Given the description of an element on the screen output the (x, y) to click on. 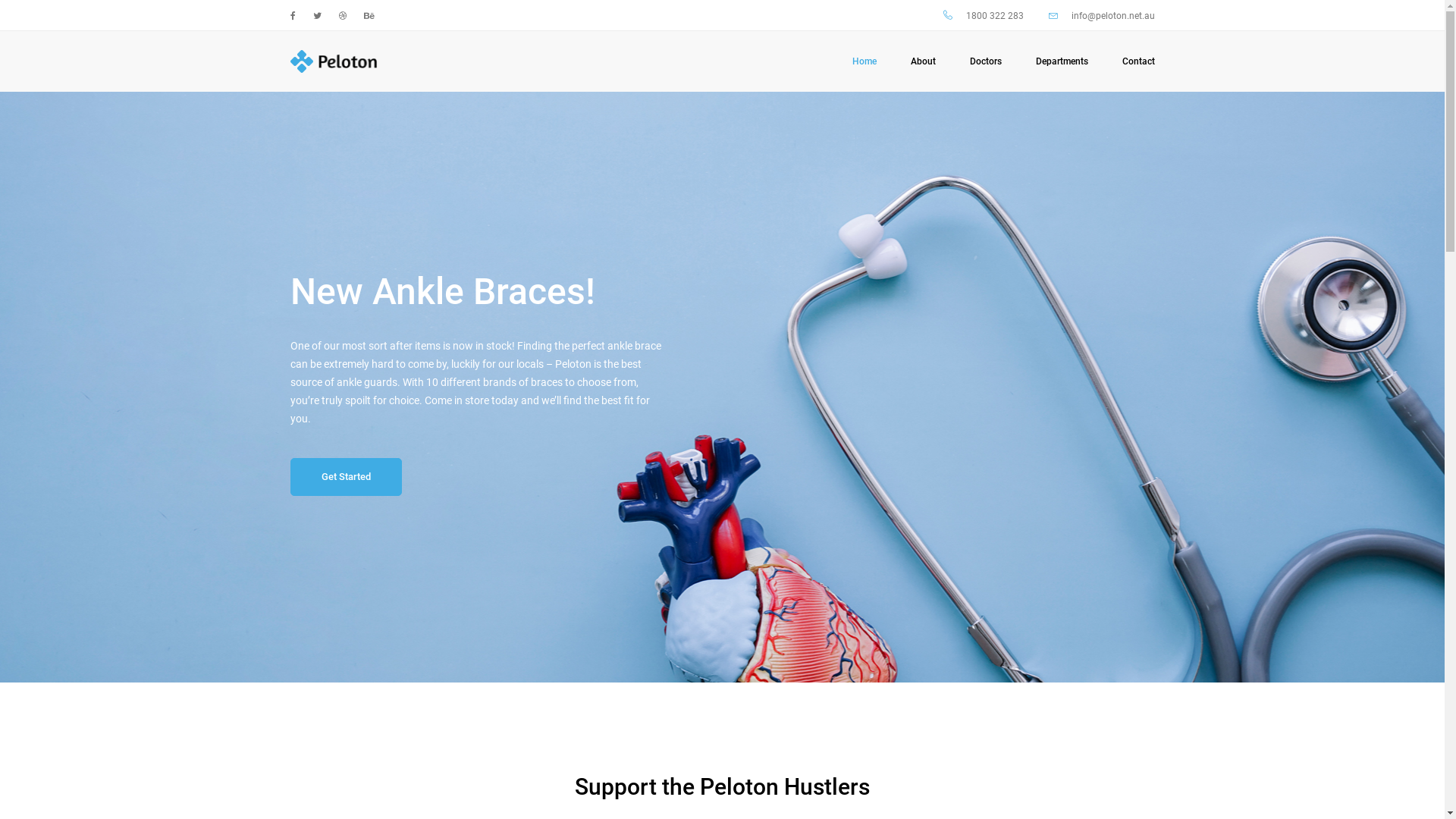
info@peloton.net.au Element type: text (1101, 15)
Doctors Element type: text (985, 61)
Home Element type: text (864, 61)
Departments Element type: text (1061, 61)
Get Started Element type: text (345, 476)
About Element type: text (922, 61)
Contact Element type: text (1138, 61)
1800 322 283 Element type: text (983, 15)
